Given the description of an element on the screen output the (x, y) to click on. 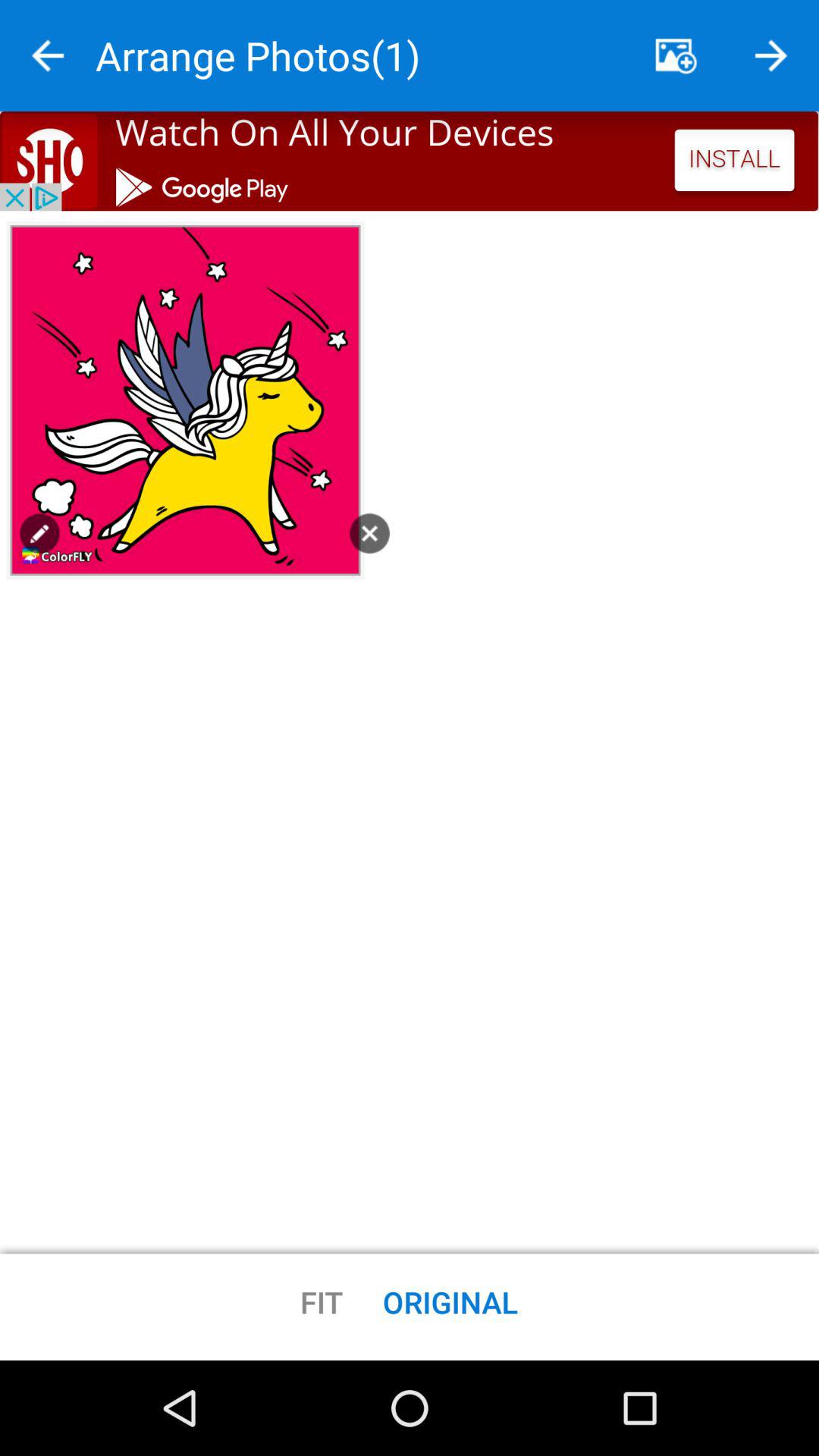
edit the image (39, 533)
